Given the description of an element on the screen output the (x, y) to click on. 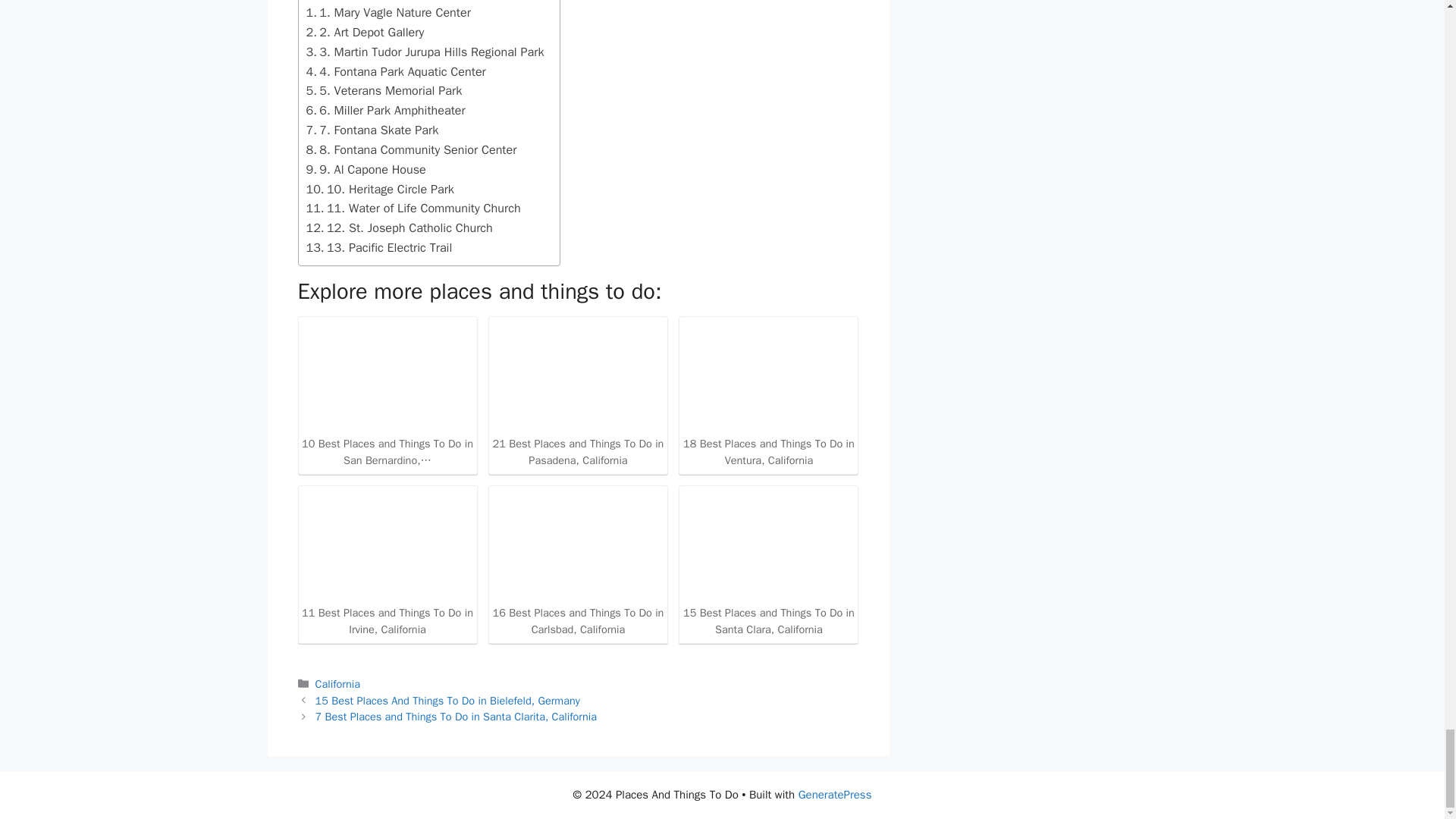
9. Al Capone House (365, 169)
3. Martin Tudor Jurupa Hills Regional Park (424, 52)
2. Art Depot Gallery (365, 32)
12. St. Joseph Catholic Church (399, 228)
7. Fontana Skate Park (372, 130)
15 Best Places and Things To Do in Santa Clara, California (768, 563)
4. Fontana Park Aquatic Center (395, 71)
4. Fontana Park Aquatic Center (395, 71)
1. Mary Vagle Nature Center (387, 12)
11. Water of Life Community Church (413, 208)
11 Best Places and Things To Do in Irvine, California (386, 563)
10. Heritage Circle Park (379, 189)
21 Best Places and Things To Do in Pasadena, California (578, 393)
5. Veterans Memorial Park (384, 90)
6. Miller Park Amphitheater (385, 110)
